Given the description of an element on the screen output the (x, y) to click on. 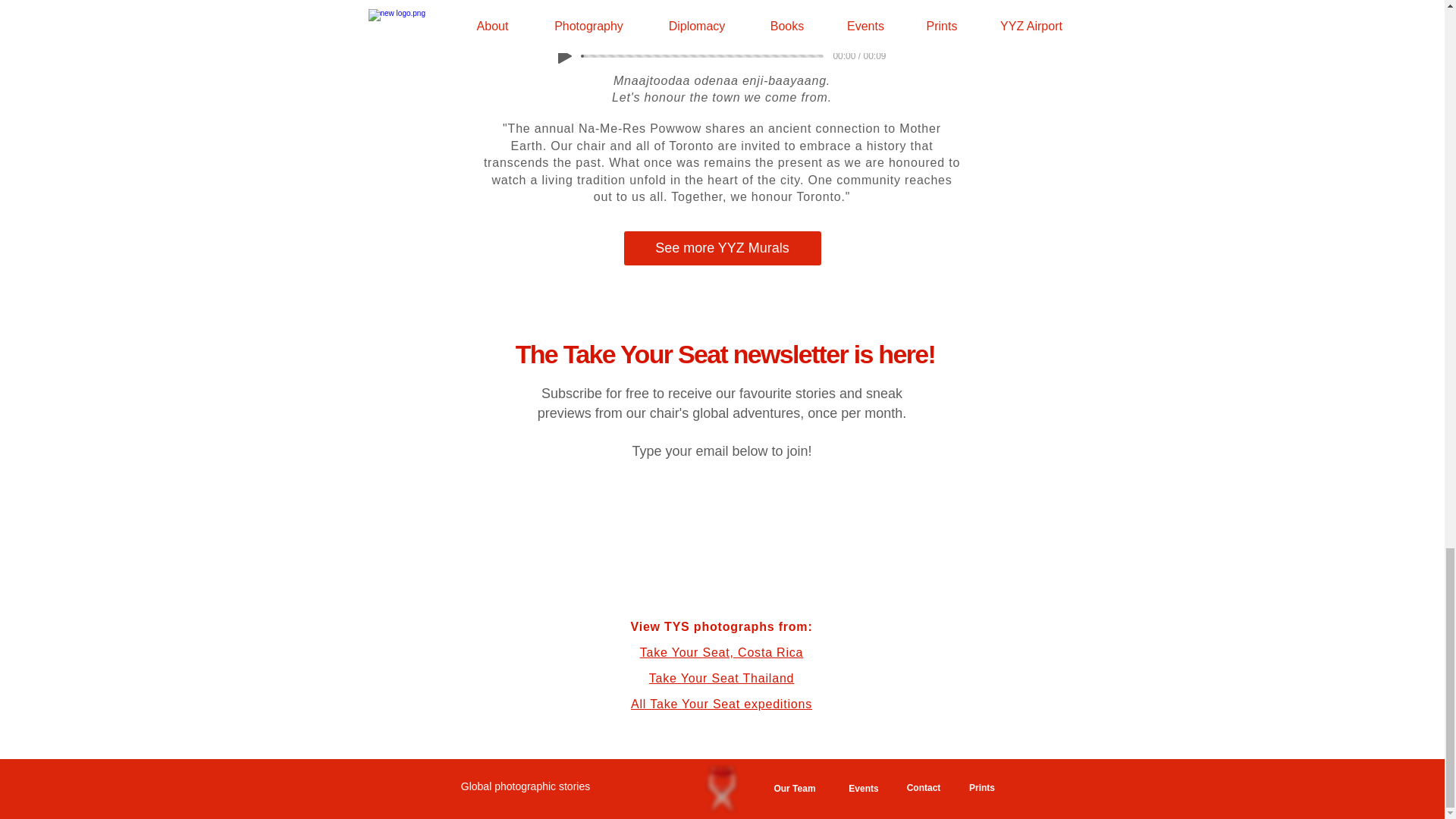
Embedded Content (722, 529)
0 (703, 55)
